Given the description of an element on the screen output the (x, y) to click on. 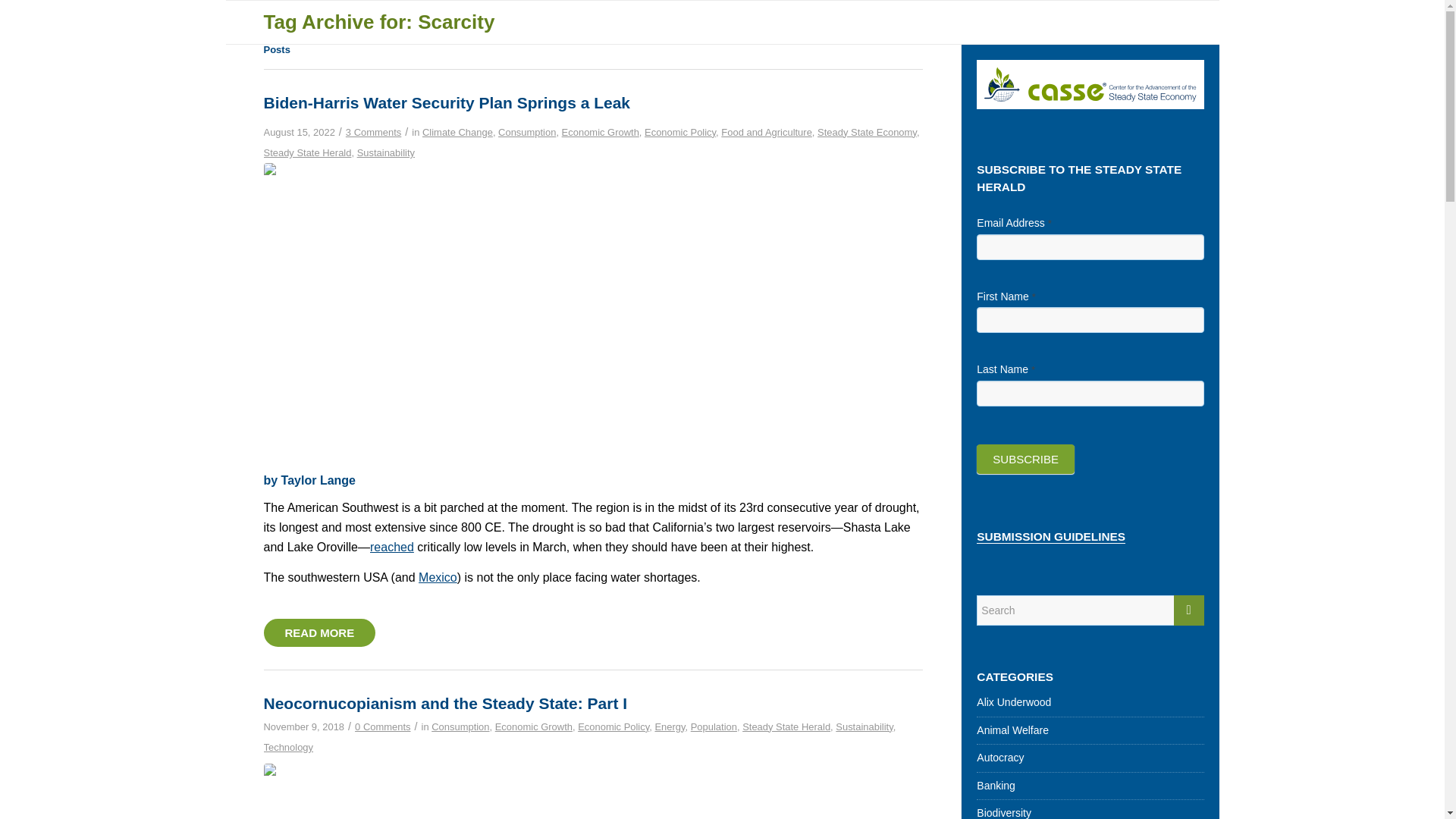
Economic Growth (533, 726)
Consumption (459, 726)
READ MORE (319, 633)
Mexico (438, 576)
Permanent Link: Tag Archive for: Scarcity (379, 21)
Consumption (526, 132)
reached (391, 546)
Tag Archive for: Scarcity (379, 21)
Population (713, 726)
Economic Growth (600, 132)
Energy (668, 726)
Sustainability (385, 152)
0 Comments (382, 726)
